Given the description of an element on the screen output the (x, y) to click on. 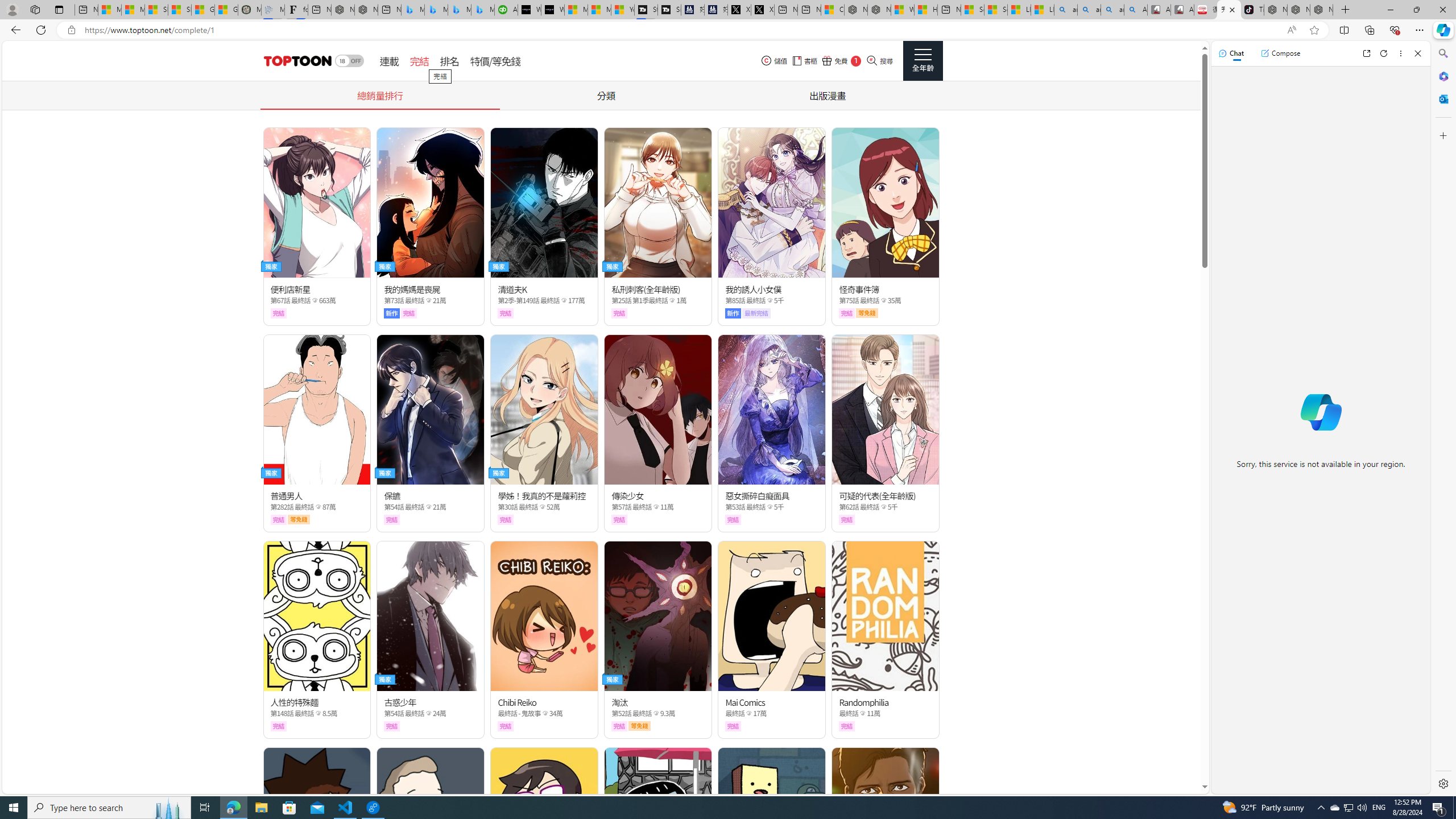
Outlook (1442, 98)
Side bar (1443, 418)
